Given the description of an element on the screen output the (x, y) to click on. 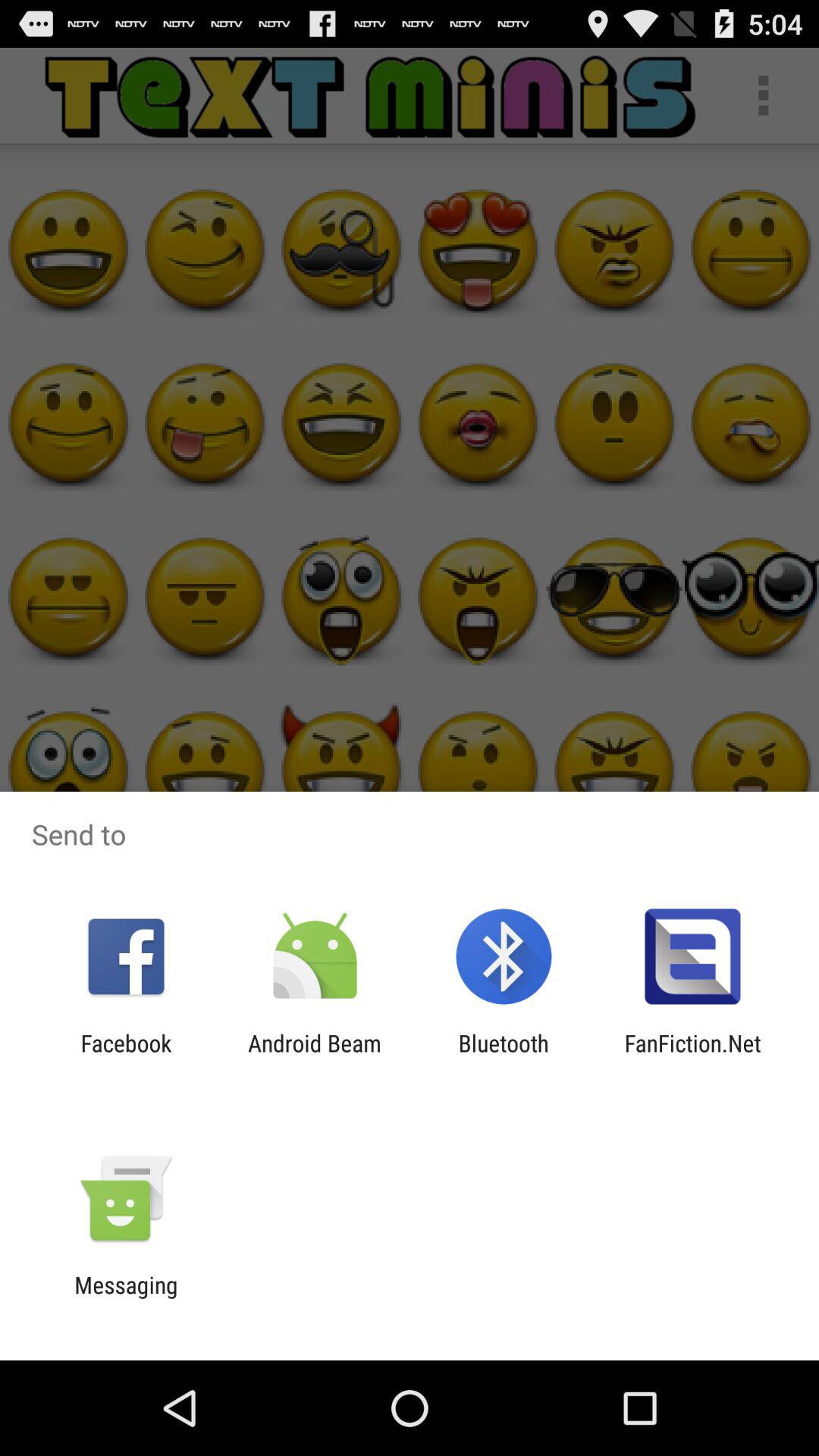
open icon next to bluetooth app (692, 1056)
